Given the description of an element on the screen output the (x, y) to click on. 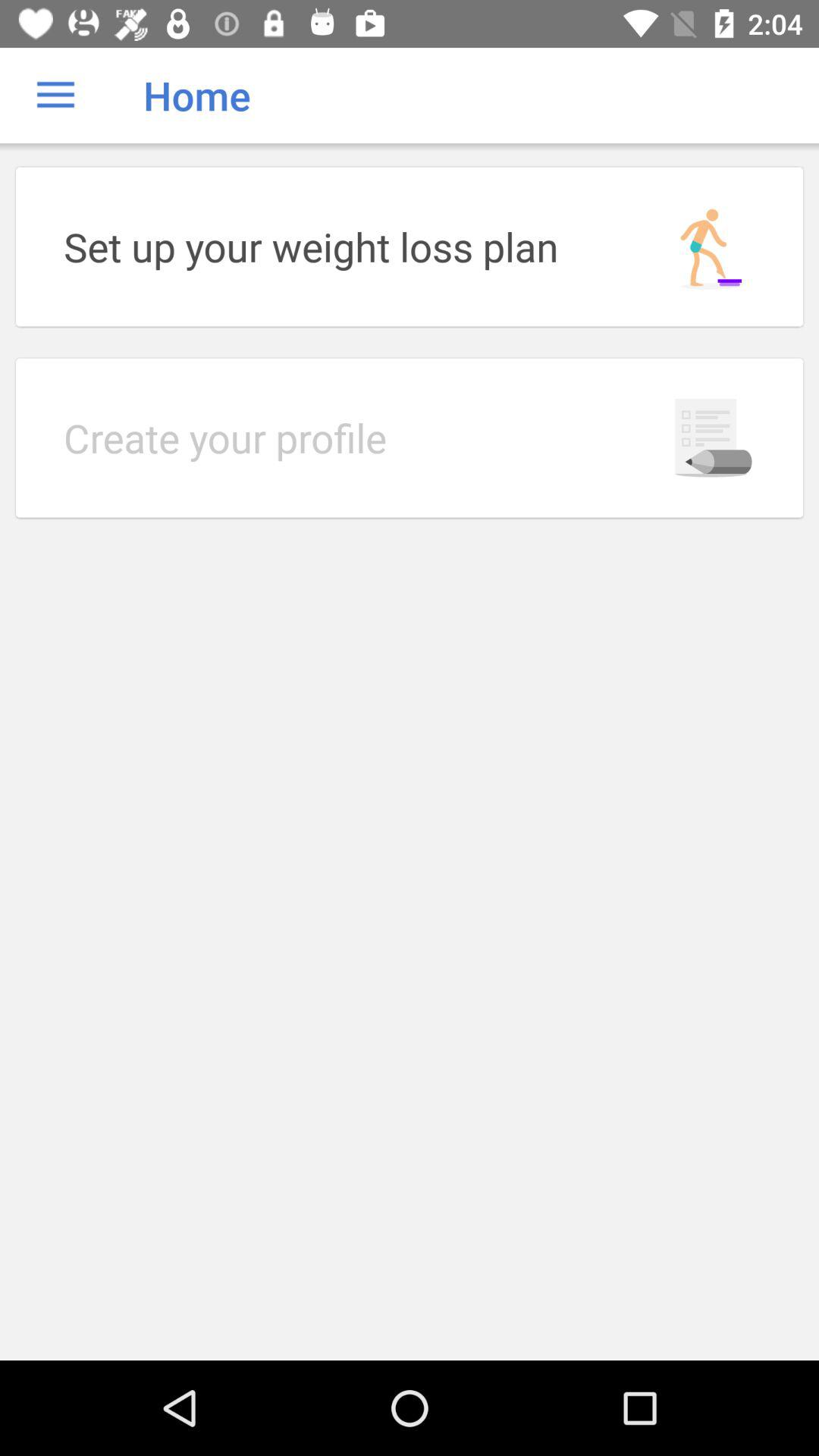
turn on the icon next to home (55, 95)
